Given the description of an element on the screen output the (x, y) to click on. 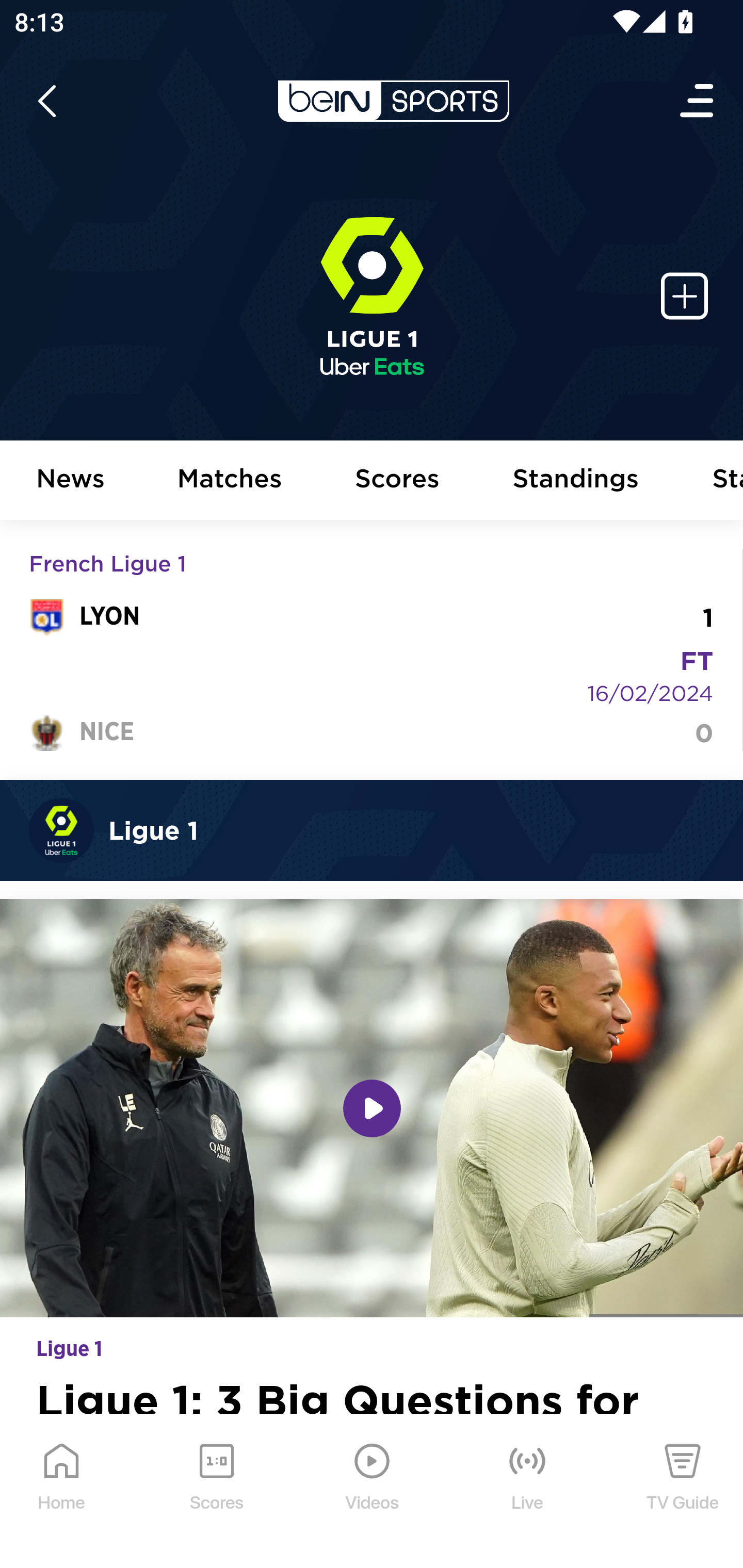
en-us?platform=mobile_android bein logo white (392, 101)
icon back (46, 101)
Open Menu Icon (697, 101)
News (70, 480)
Matches (229, 480)
Scores (397, 480)
Standings (575, 480)
Home Home Icon Home (61, 1491)
Scores Scores Icon Scores (216, 1491)
Videos Videos Icon Videos (372, 1491)
TV Guide TV Guide Icon TV Guide (682, 1491)
